Given the description of an element on the screen output the (x, y) to click on. 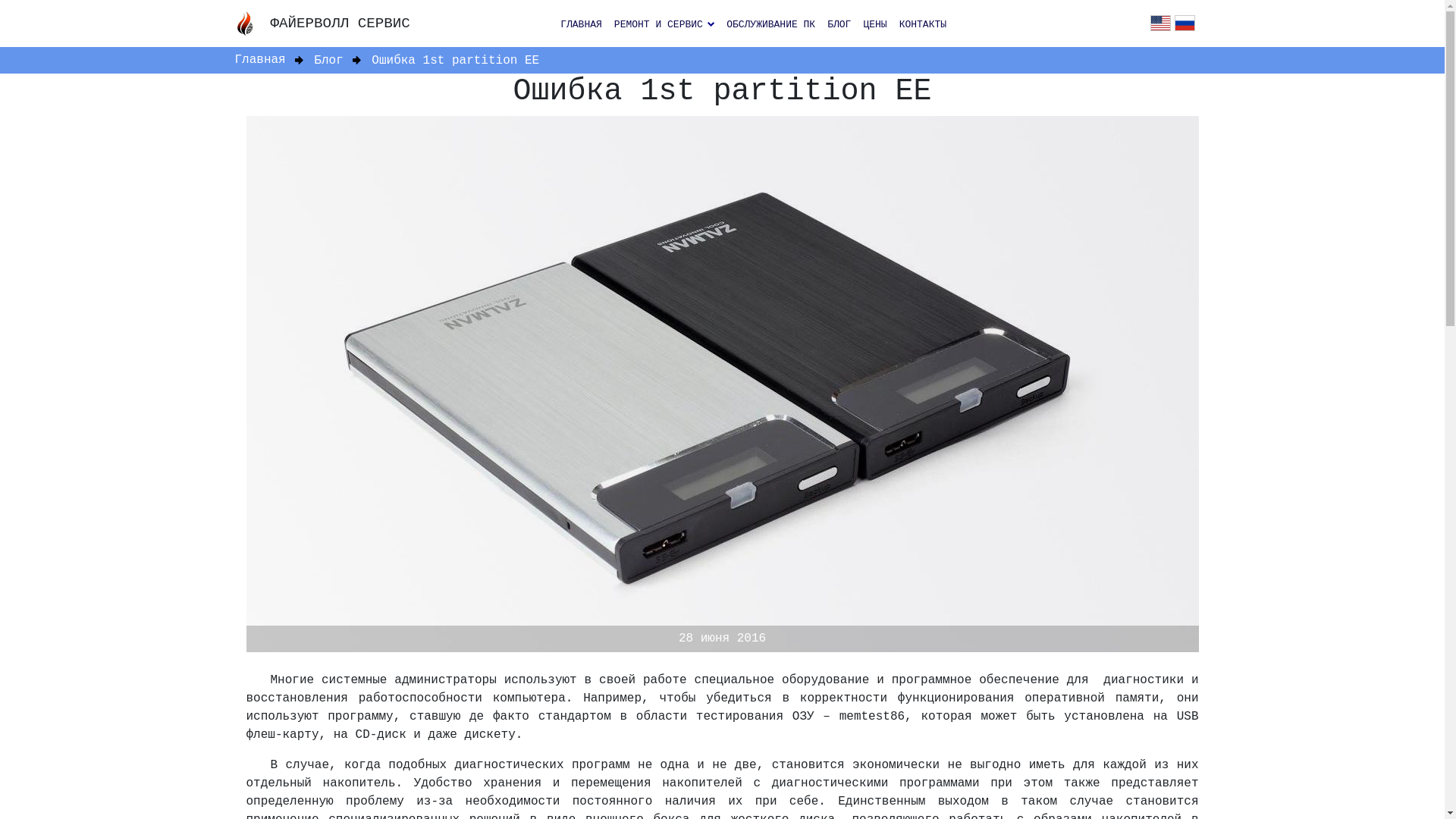
en Element type: text (1160, 24)
Home Element type: hover (249, 23)
ru Element type: text (1184, 24)
